Given the description of an element on the screen output the (x, y) to click on. 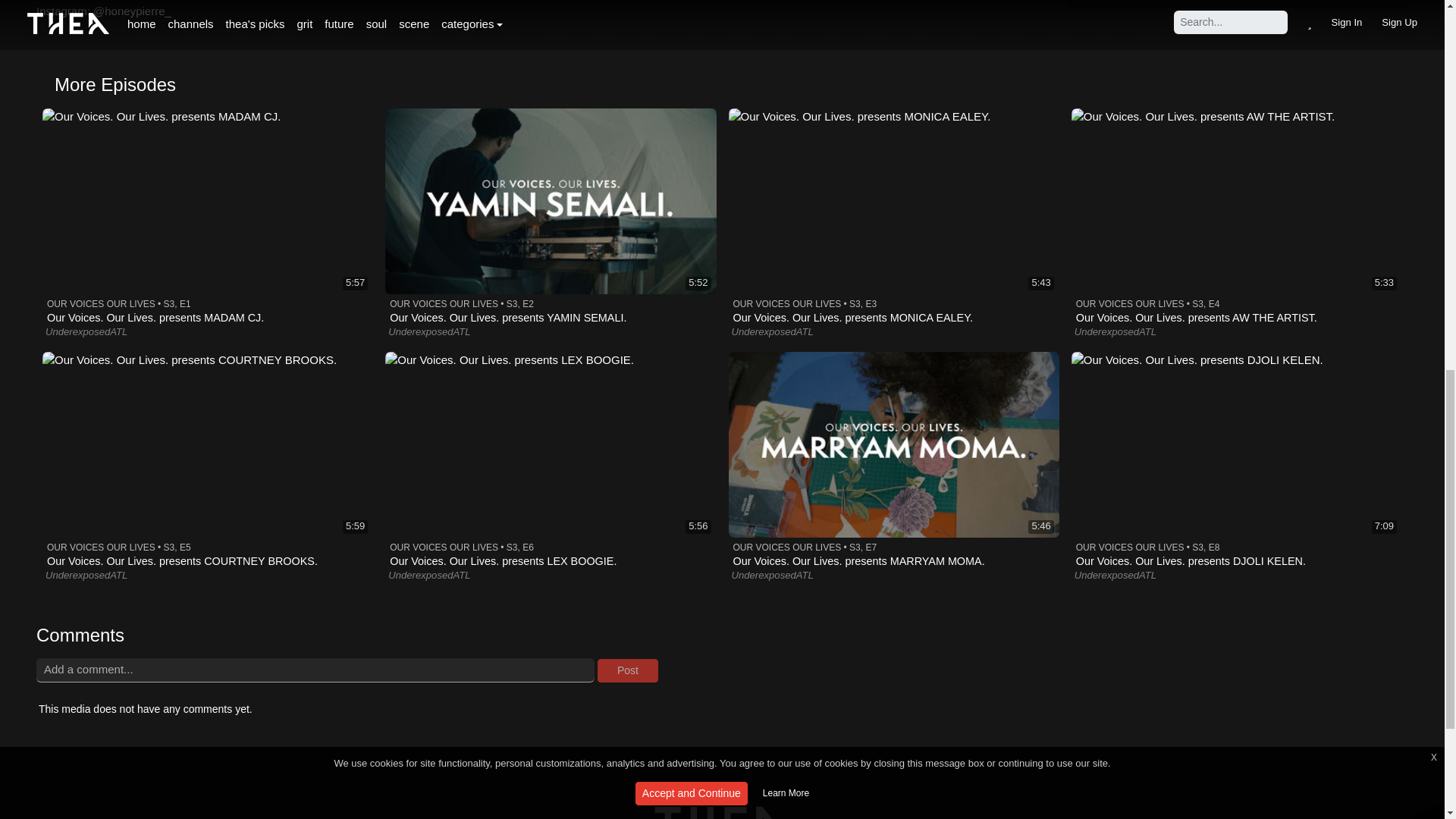
Our Voices. Our Lives. presents MONICA EALEY. (893, 216)
Our Voices. Our Lives. presents MADAM CJ. (207, 216)
Our Voices. Our Lives. presents YAMIN SEMALI. (550, 216)
